Given the description of an element on the screen output the (x, y) to click on. 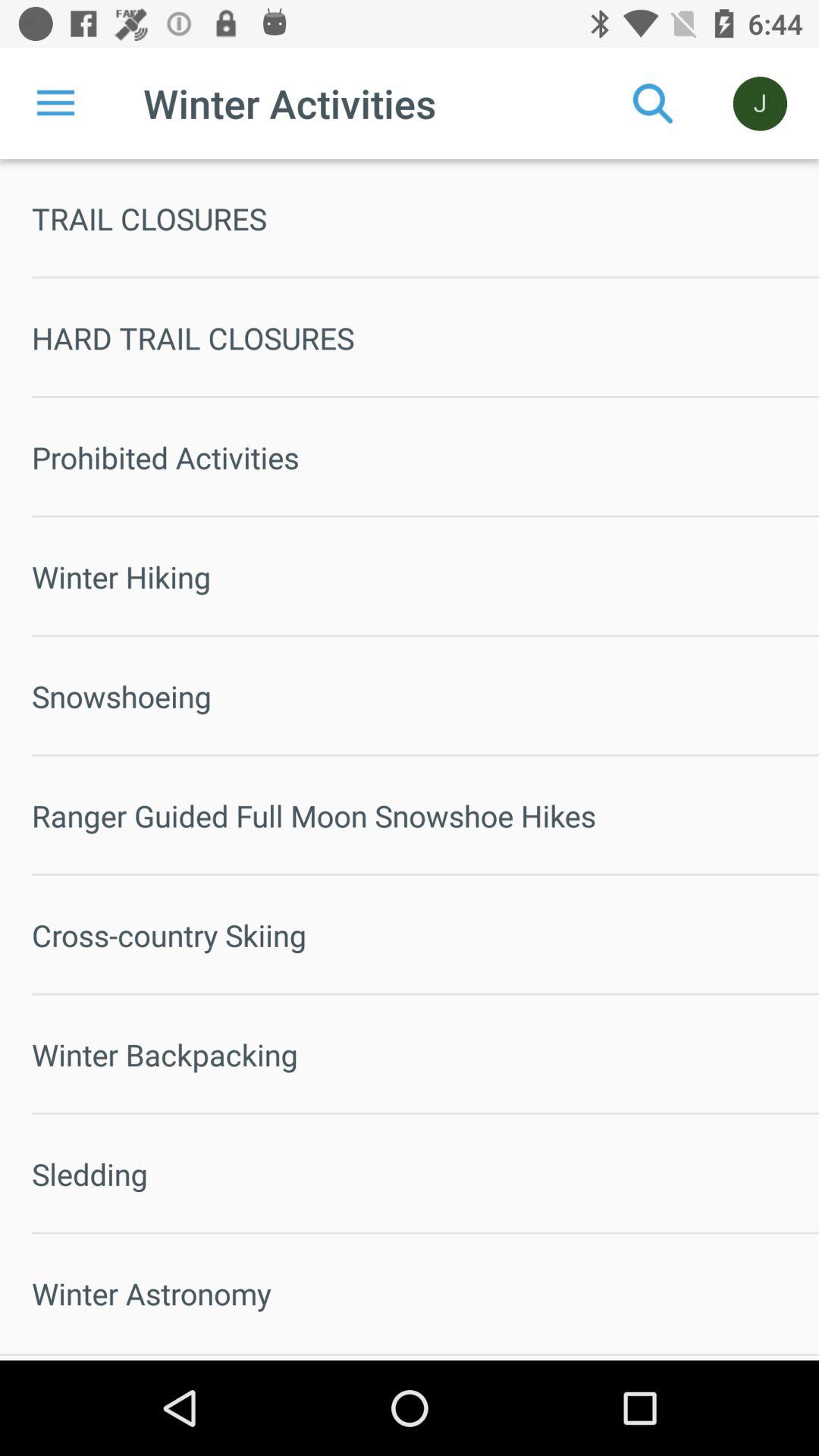
flip until sledding icon (425, 1173)
